Given the description of an element on the screen output the (x, y) to click on. 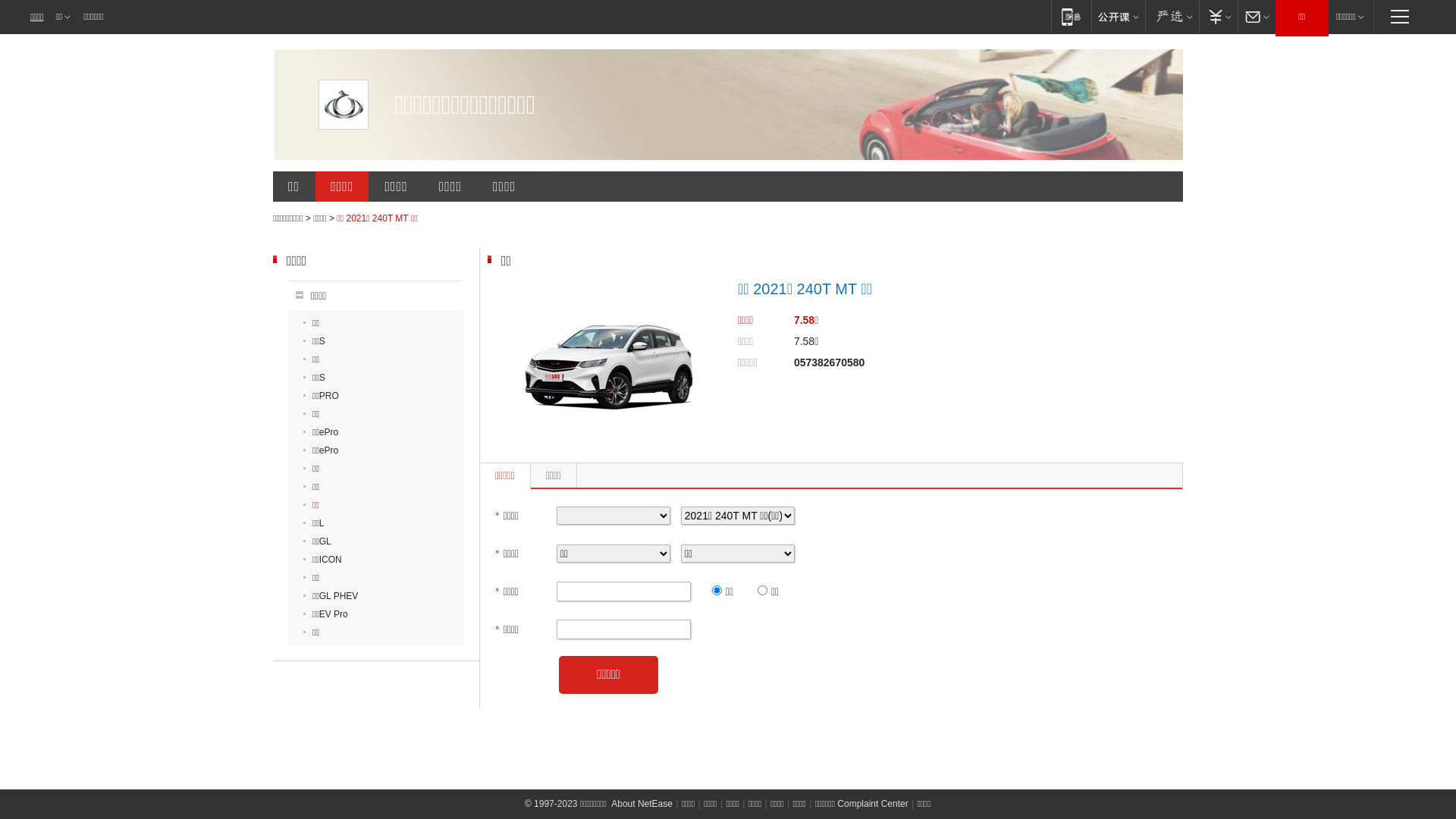
About NetEase Element type: text (641, 803)
